Given the description of an element on the screen output the (x, y) to click on. 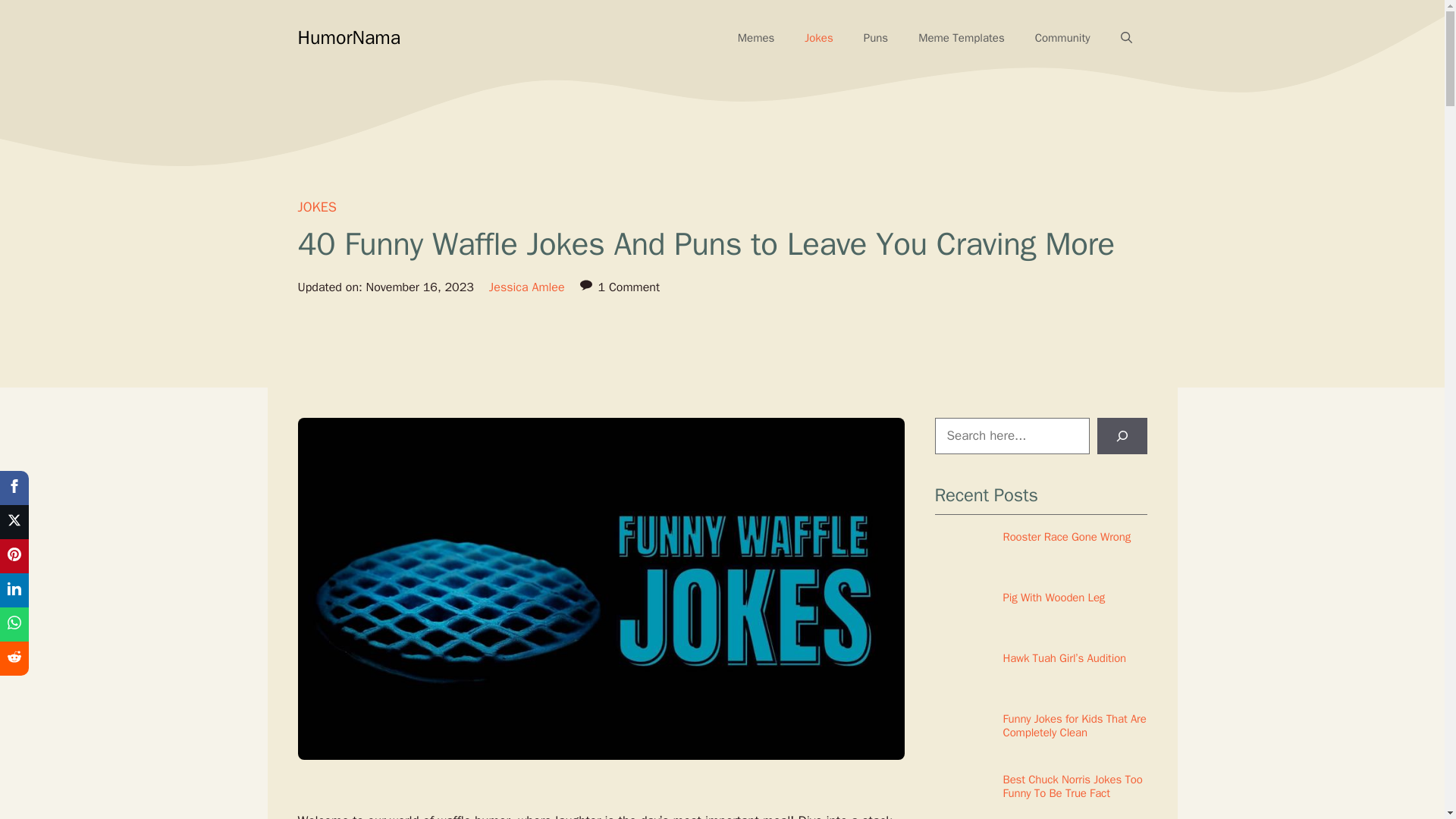
Puns (875, 37)
Memes (756, 37)
Jokes (818, 37)
JOKES (316, 207)
Pig With Wooden Leg (1054, 597)
Jessica Amlee (526, 287)
Meme Templates (961, 37)
Rooster Race Gone Wrong (1067, 536)
Community (1062, 37)
